Given the description of an element on the screen output the (x, y) to click on. 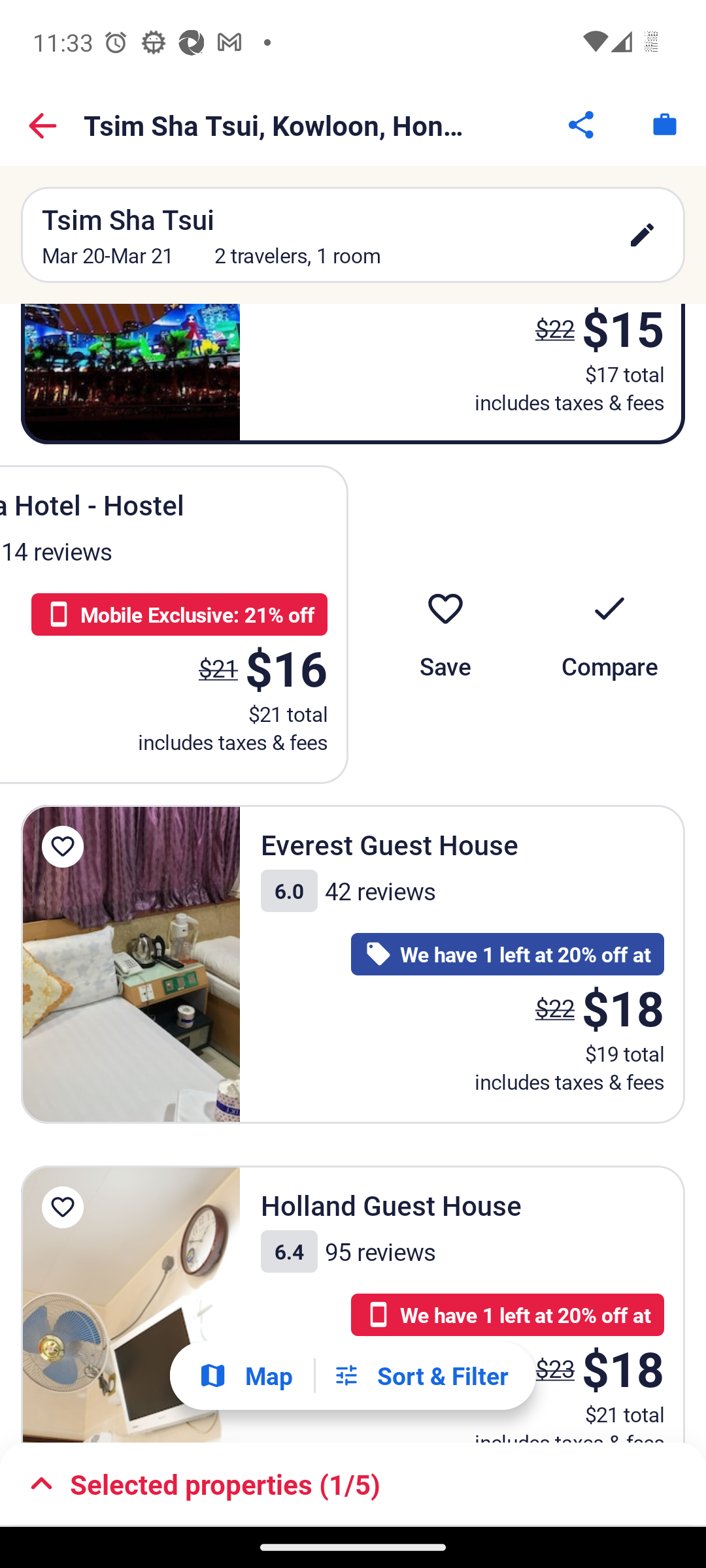
Share Button (582, 124)
Trips. Button (664, 124)
Everest Hostel (130, 373)
$22 The price was $22 (548, 337)
Save (444, 624)
Compare (608, 624)
$21 The price was $21 (218, 667)
Everest Guest House (130, 964)
Save Everest Guest House to a trip (62, 846)
$22 The price was $22 (554, 1007)
Holland Guest House (130, 1303)
Save Holland Guest House to a trip (62, 1207)
$23 The price was $23 (554, 1368)
Filters Sort & Filter Filters Button (420, 1374)
Show map Map Show map Button (244, 1375)
